Given the description of an element on the screen output the (x, y) to click on. 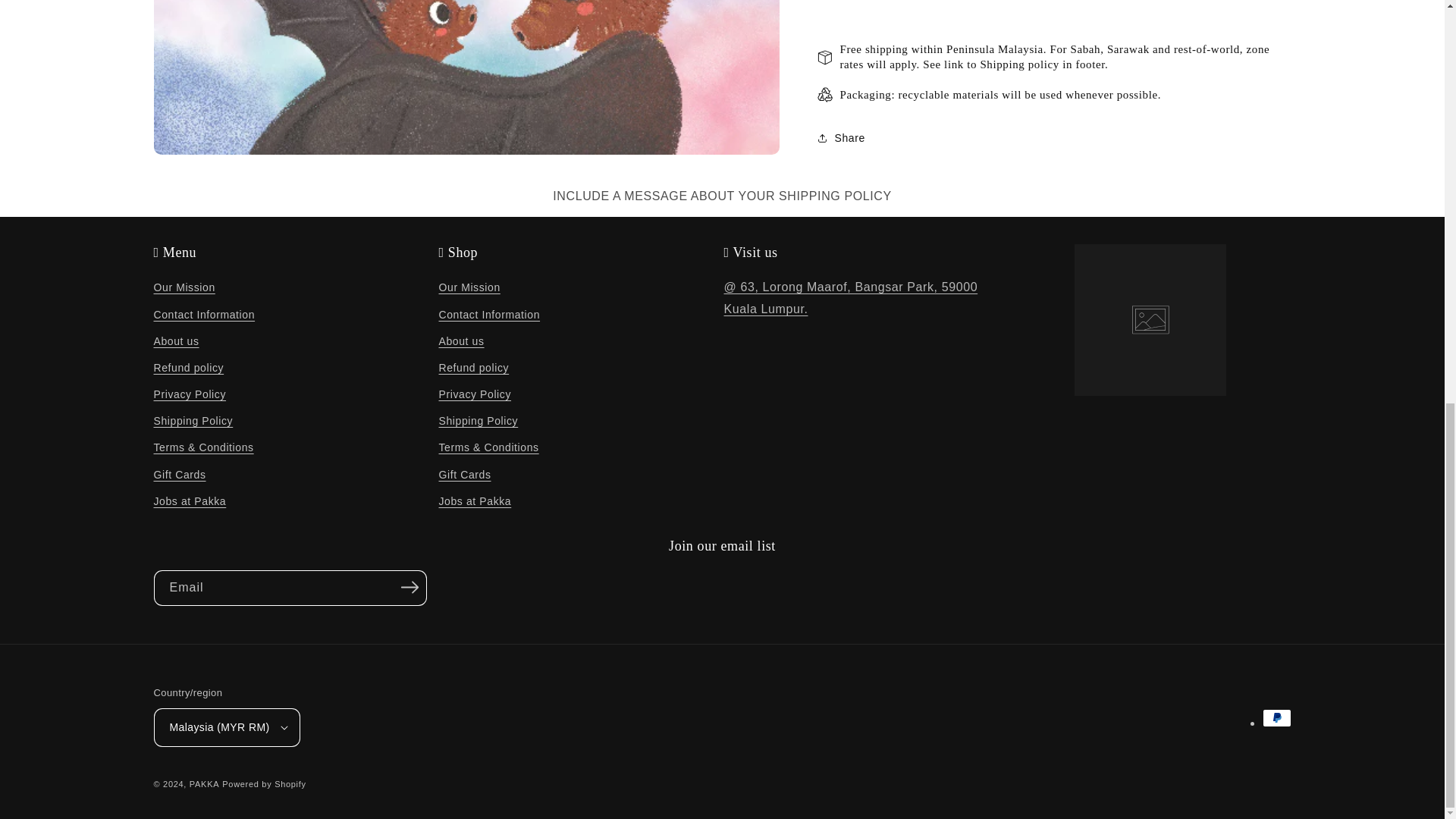
PayPal (1276, 718)
Contact (849, 297)
